Given the description of an element on the screen output the (x, y) to click on. 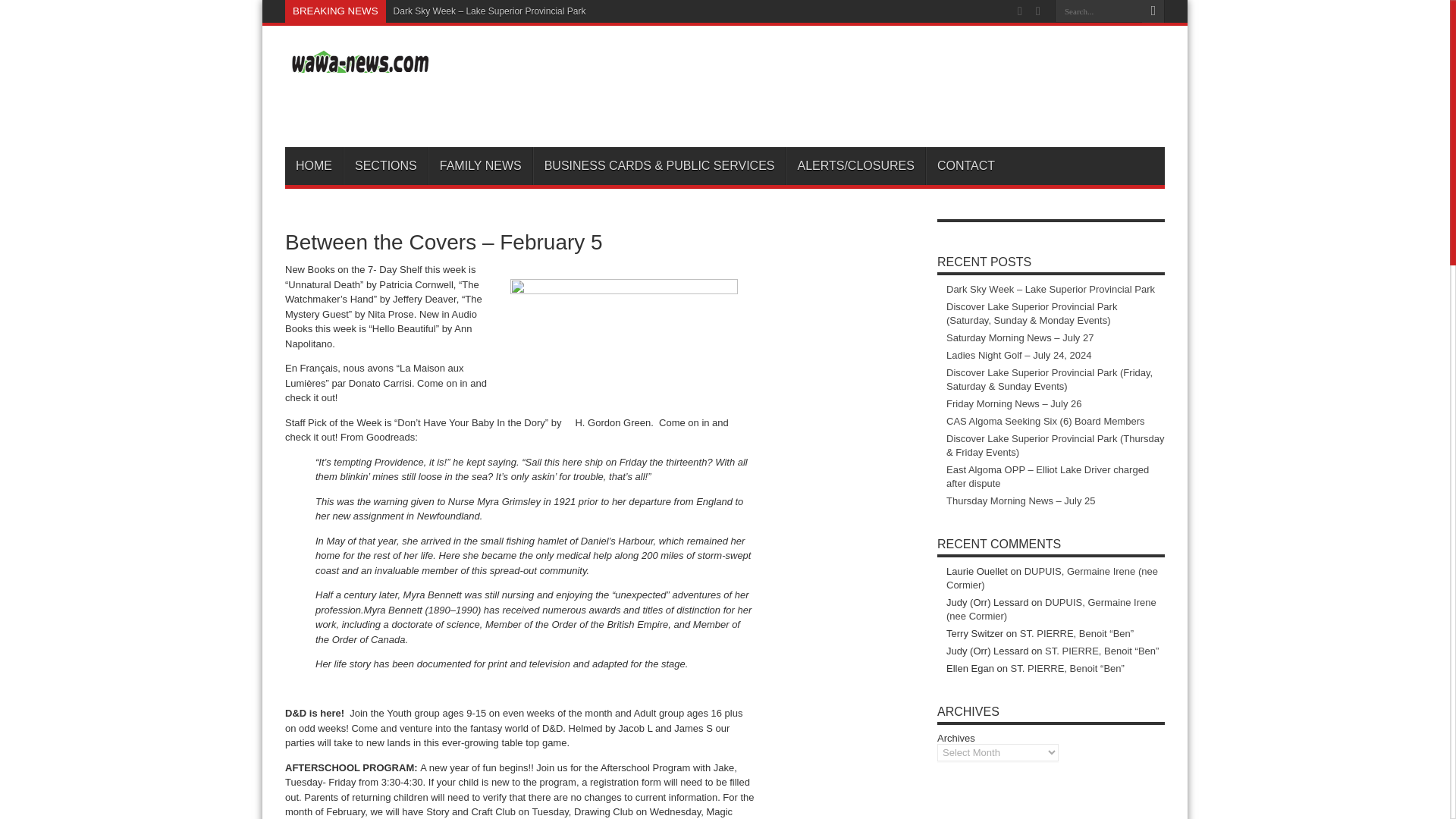
CONTACT (966, 166)
SECTIONS (385, 166)
Wawa-news.com (405, 108)
Search... (1097, 11)
HOME (313, 166)
Search (1152, 11)
FAMILY NEWS (480, 166)
